Given the description of an element on the screen output the (x, y) to click on. 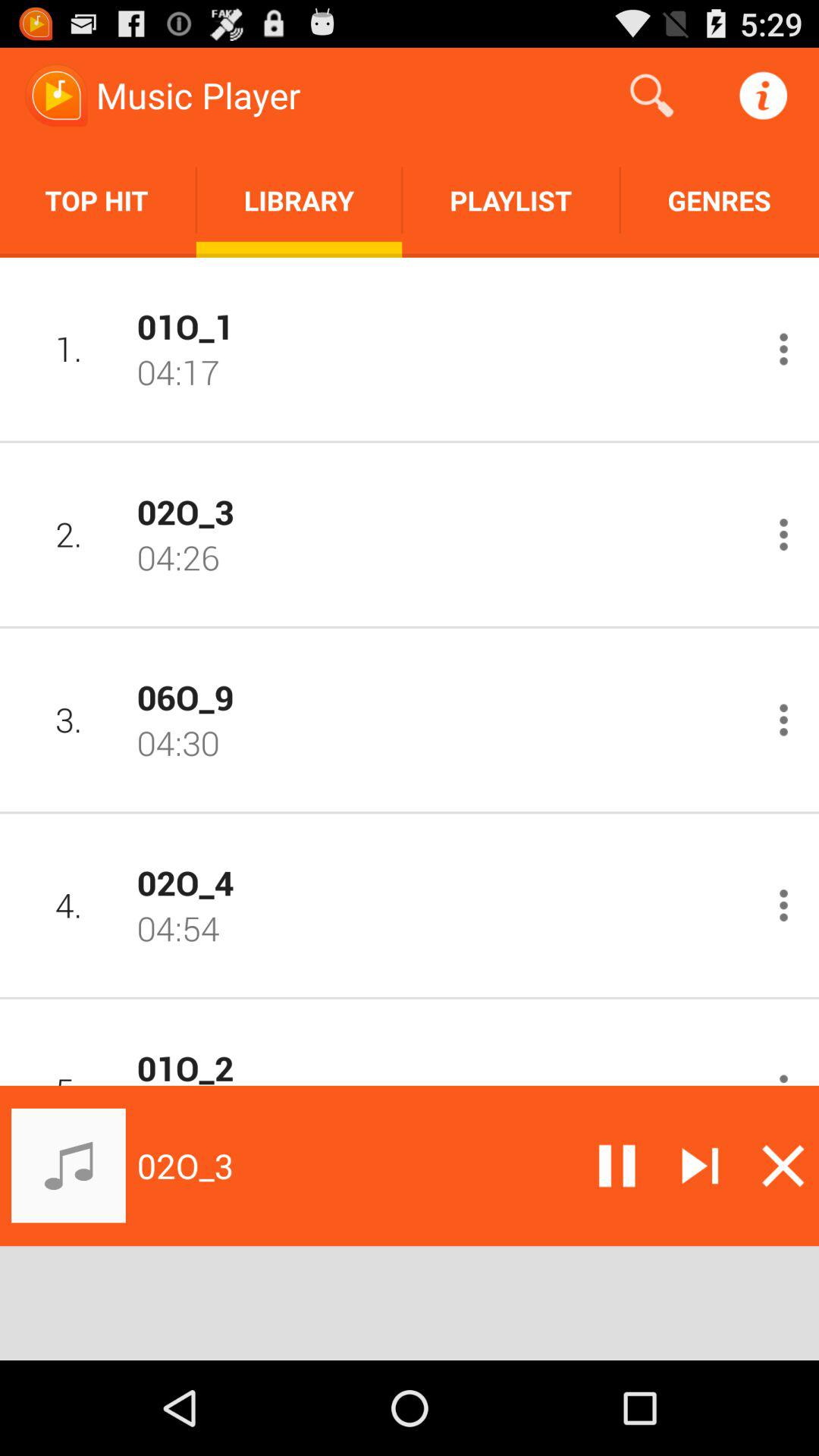
more information (783, 534)
